Given the description of an element on the screen output the (x, y) to click on. 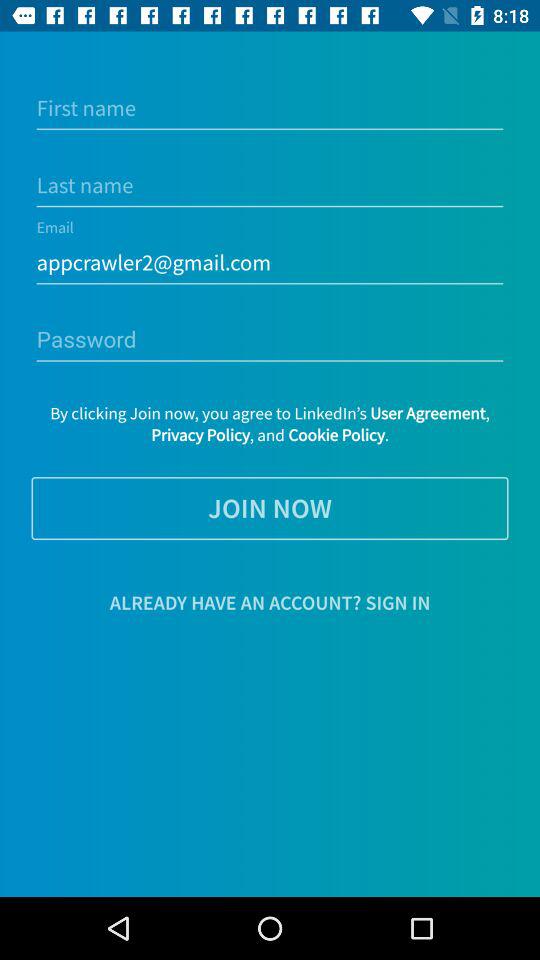
select item above the join now item (269, 424)
